Given the description of an element on the screen output the (x, y) to click on. 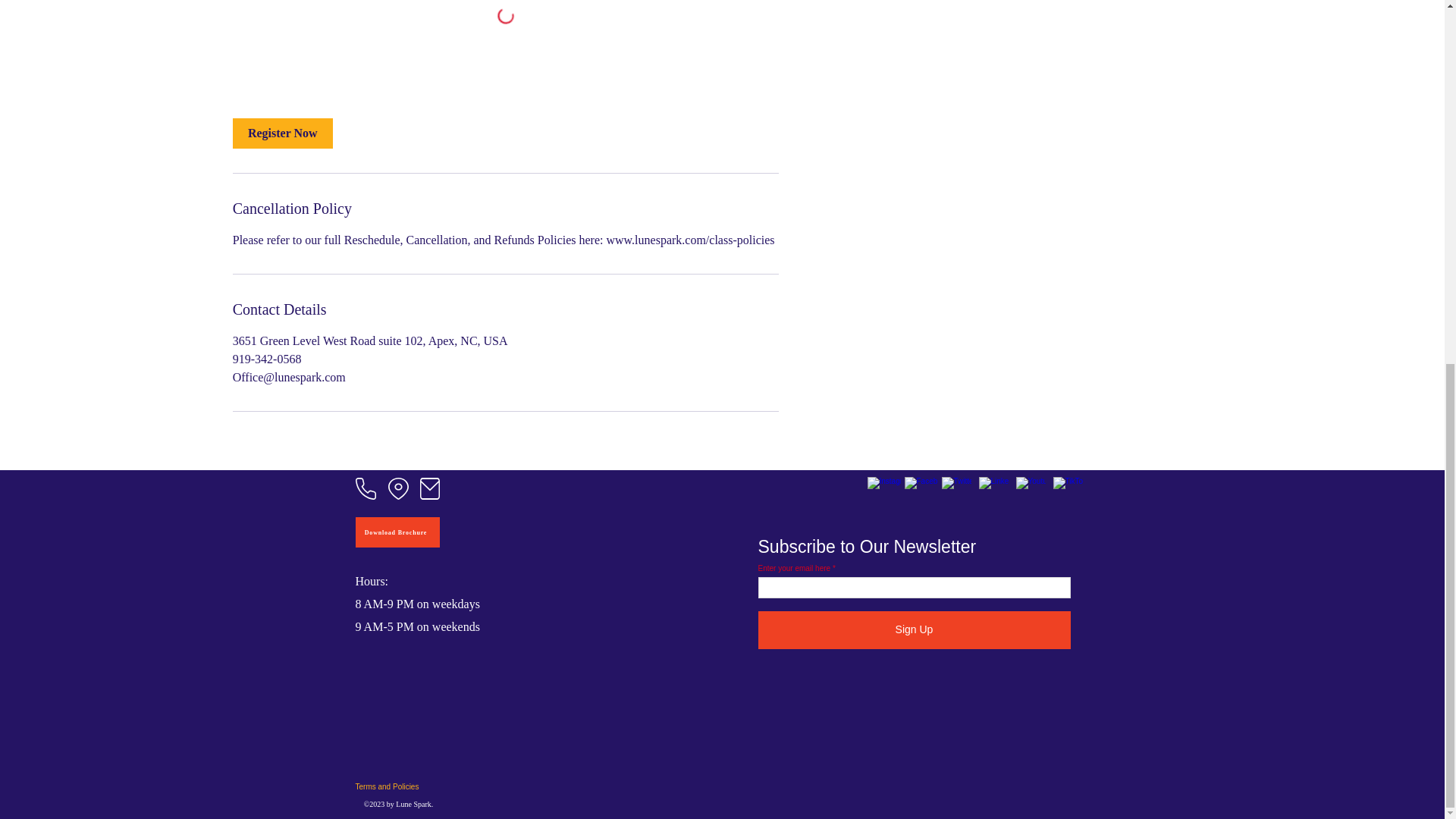
Sign Up (914, 629)
Register Now (282, 132)
Download Brochure (397, 531)
Terms and Policies (406, 786)
